Given the description of an element on the screen output the (x, y) to click on. 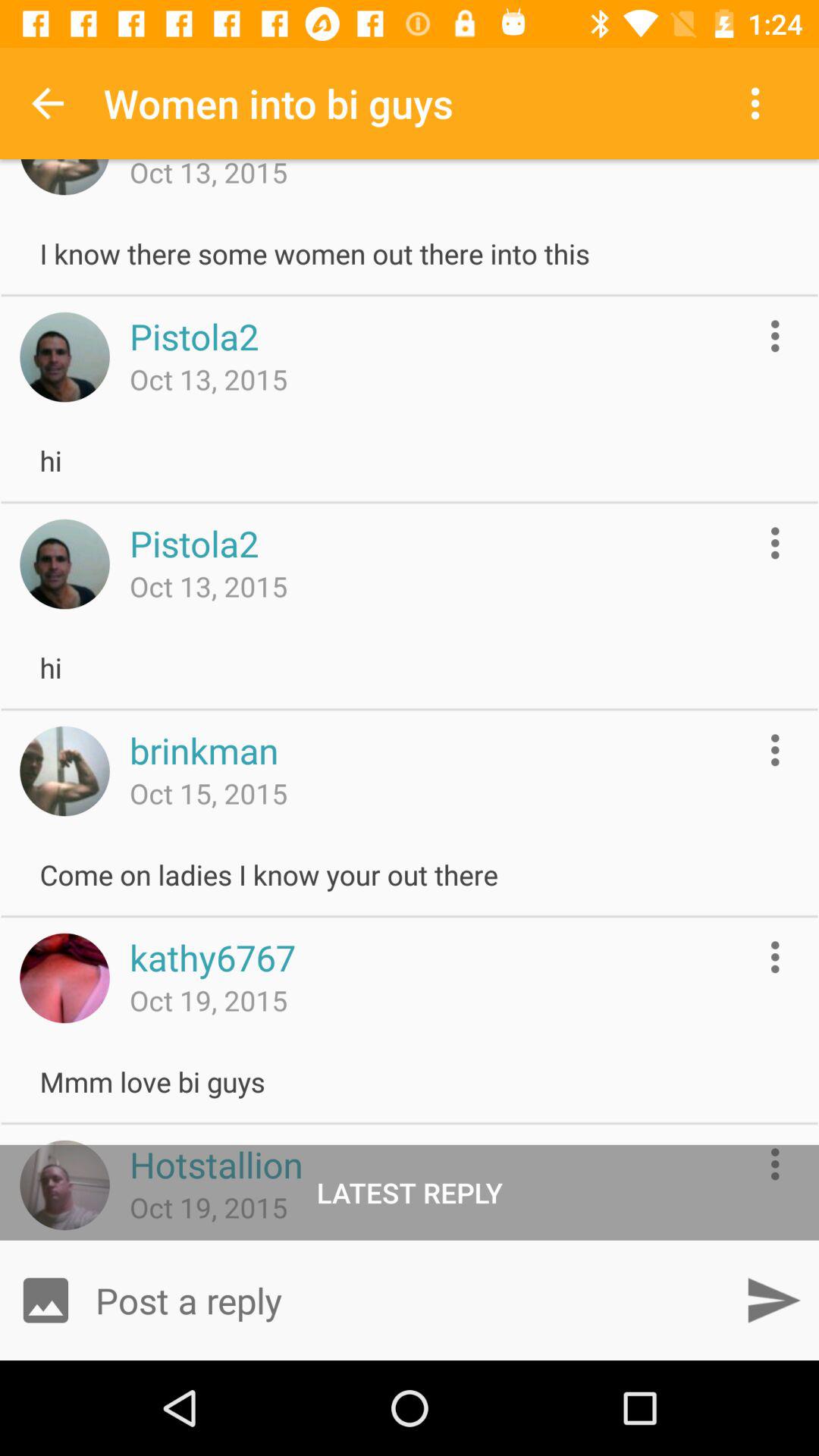
view a profile (64, 771)
